Given the description of an element on the screen output the (x, y) to click on. 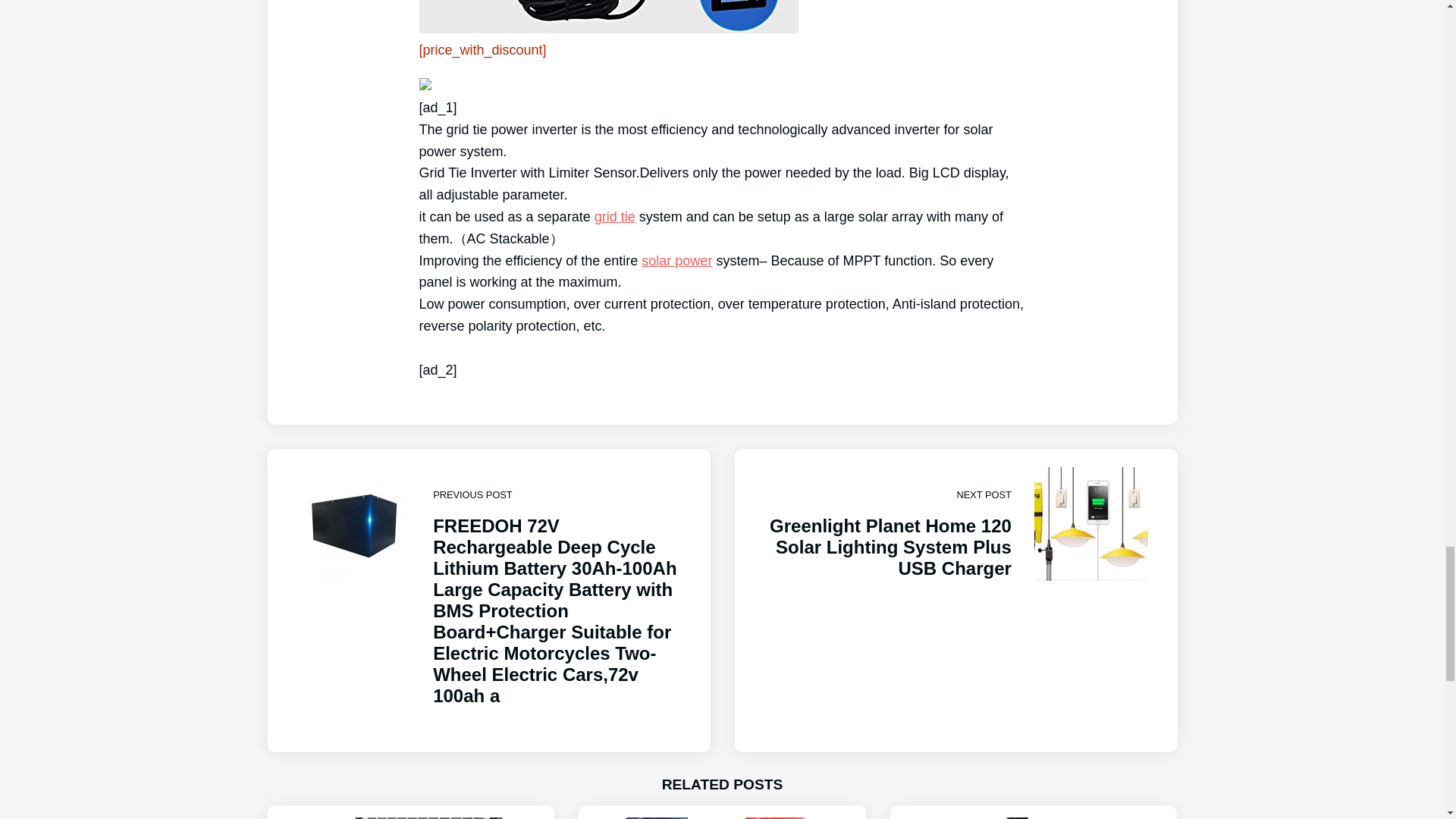
solar power (676, 260)
grid tie (614, 216)
solar power (676, 260)
grid tie (614, 216)
